Given the description of an element on the screen output the (x, y) to click on. 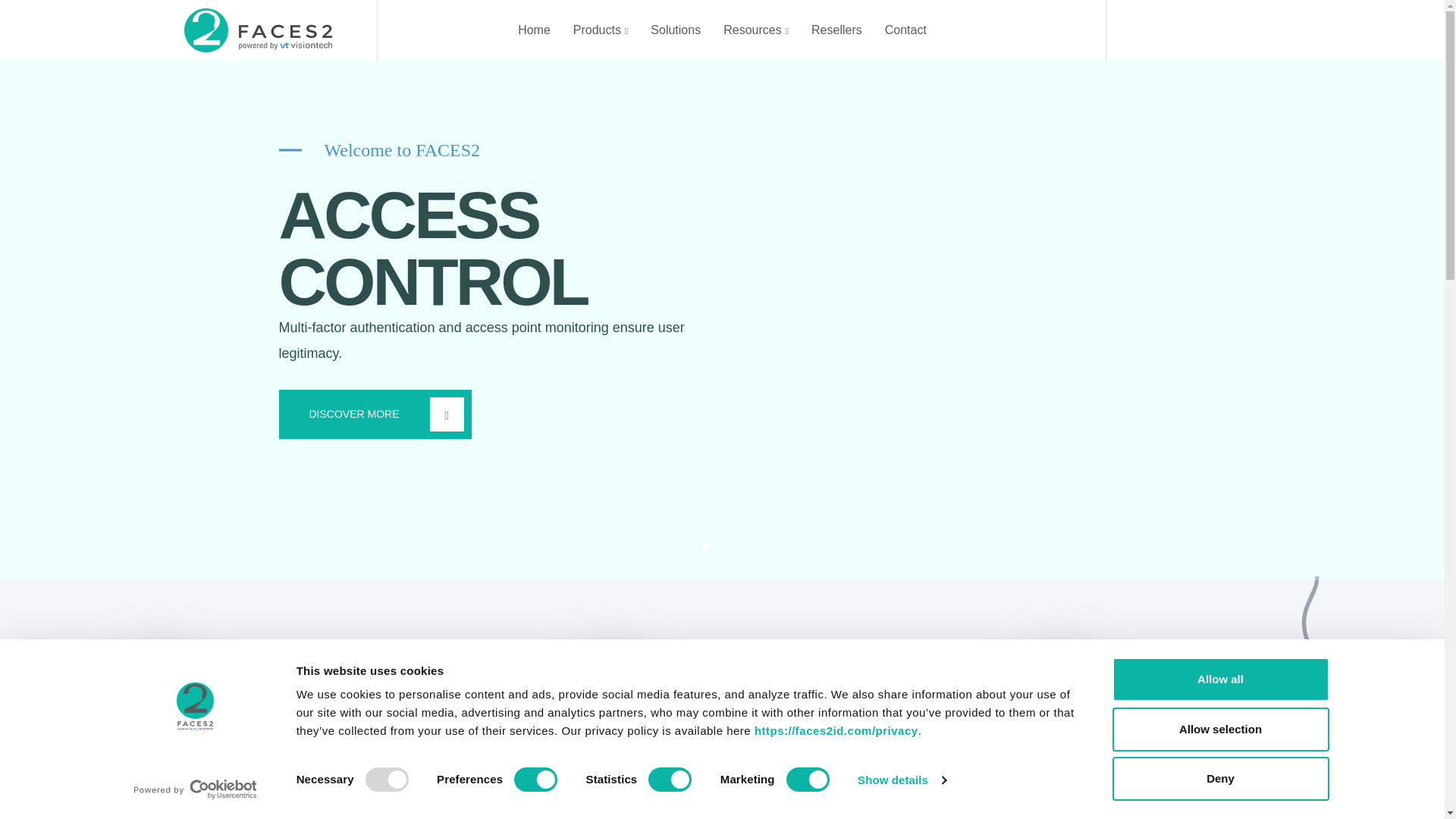
Allow selection (1219, 728)
Home (534, 29)
Products (600, 29)
Solutions (675, 29)
Deny (1219, 778)
www.FACES2id.com (836, 730)
Allow all (1219, 679)
Resources (756, 29)
Show details (900, 780)
